Given the description of an element on the screen output the (x, y) to click on. 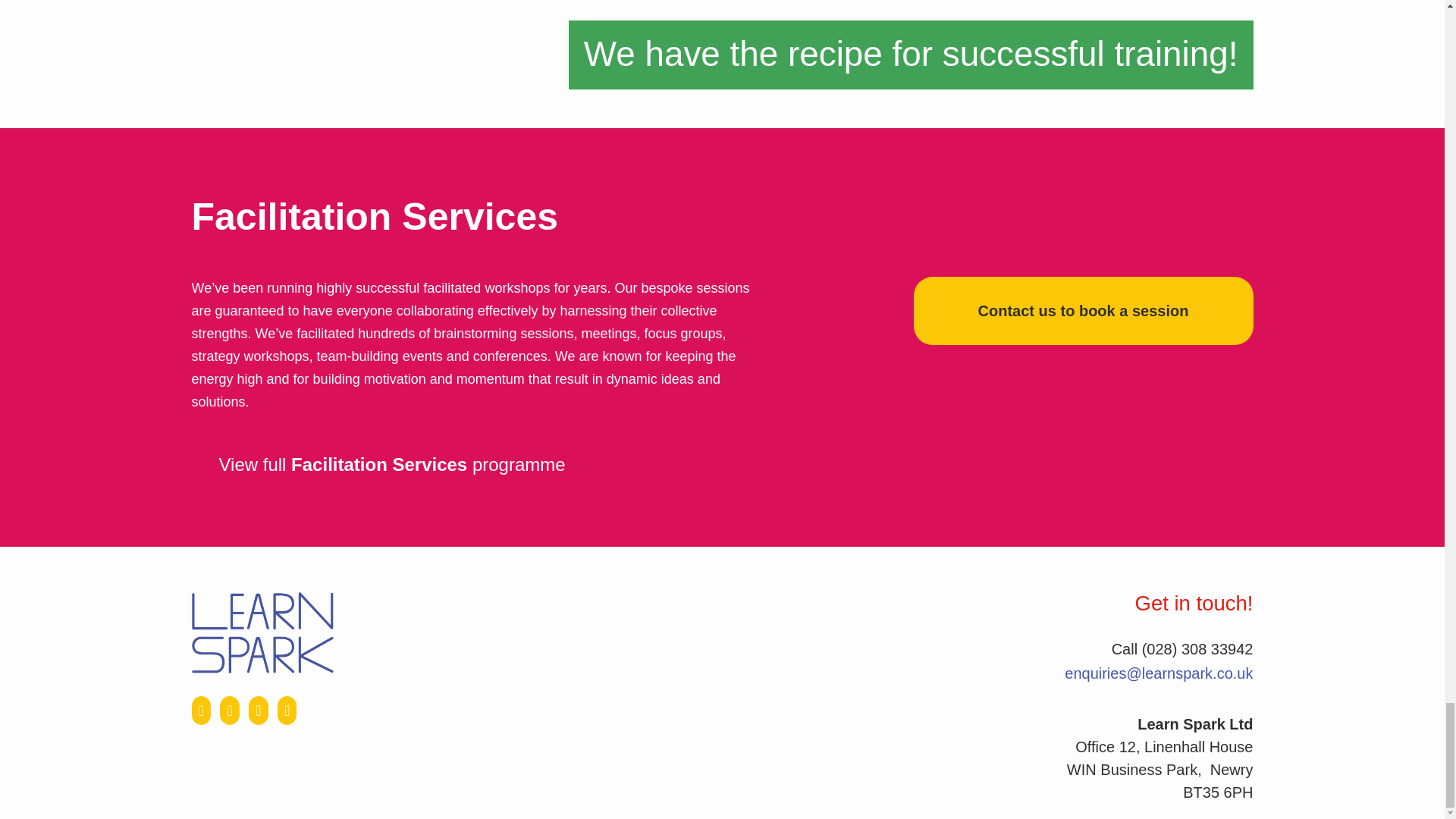
Book now (1082, 310)
